Given the description of an element on the screen output the (x, y) to click on. 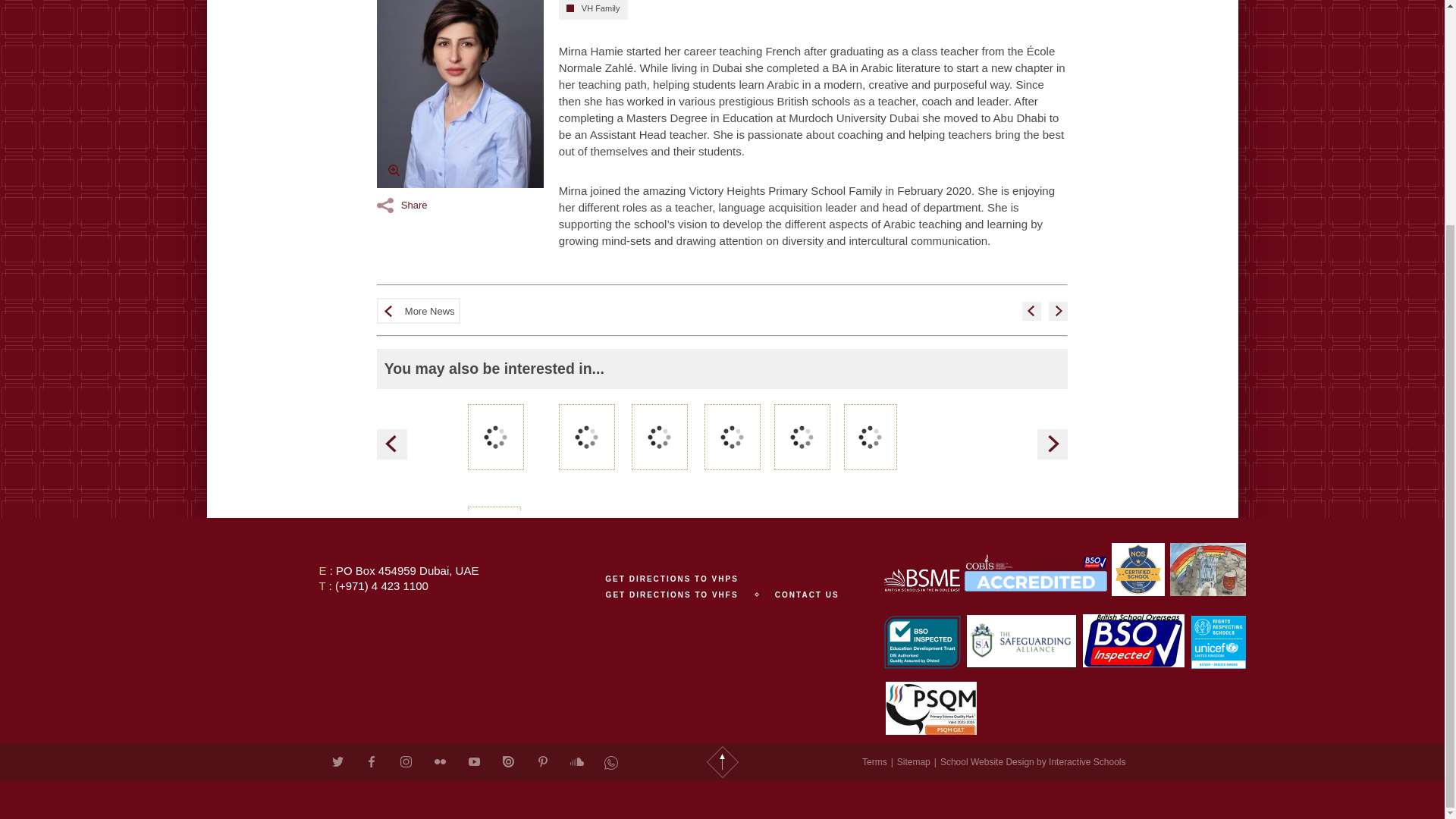
BSME (920, 580)
COBIS (1034, 572)
